Given the description of an element on the screen output the (x, y) to click on. 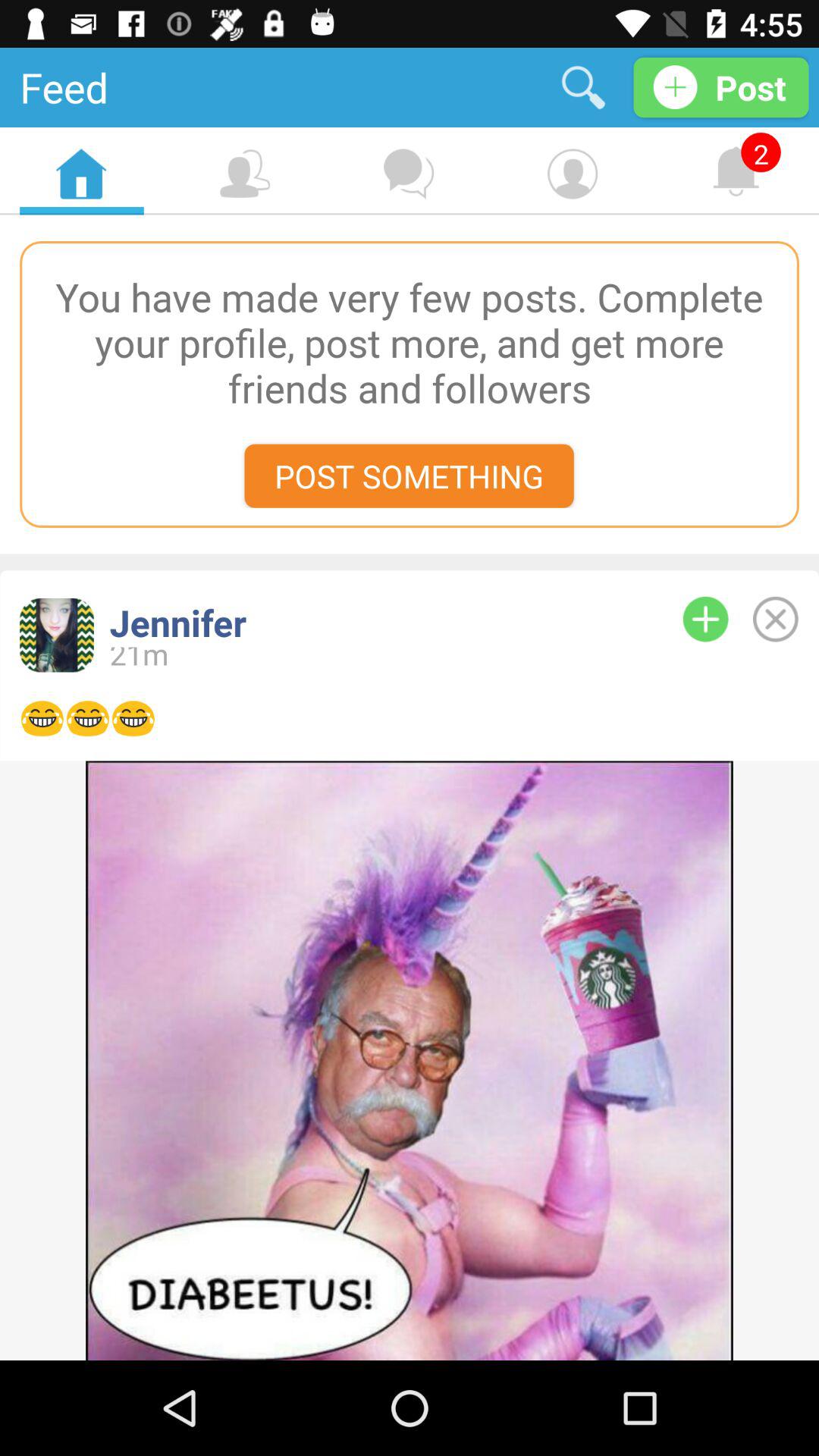
go to add (705, 619)
